Given the description of an element on the screen output the (x, y) to click on. 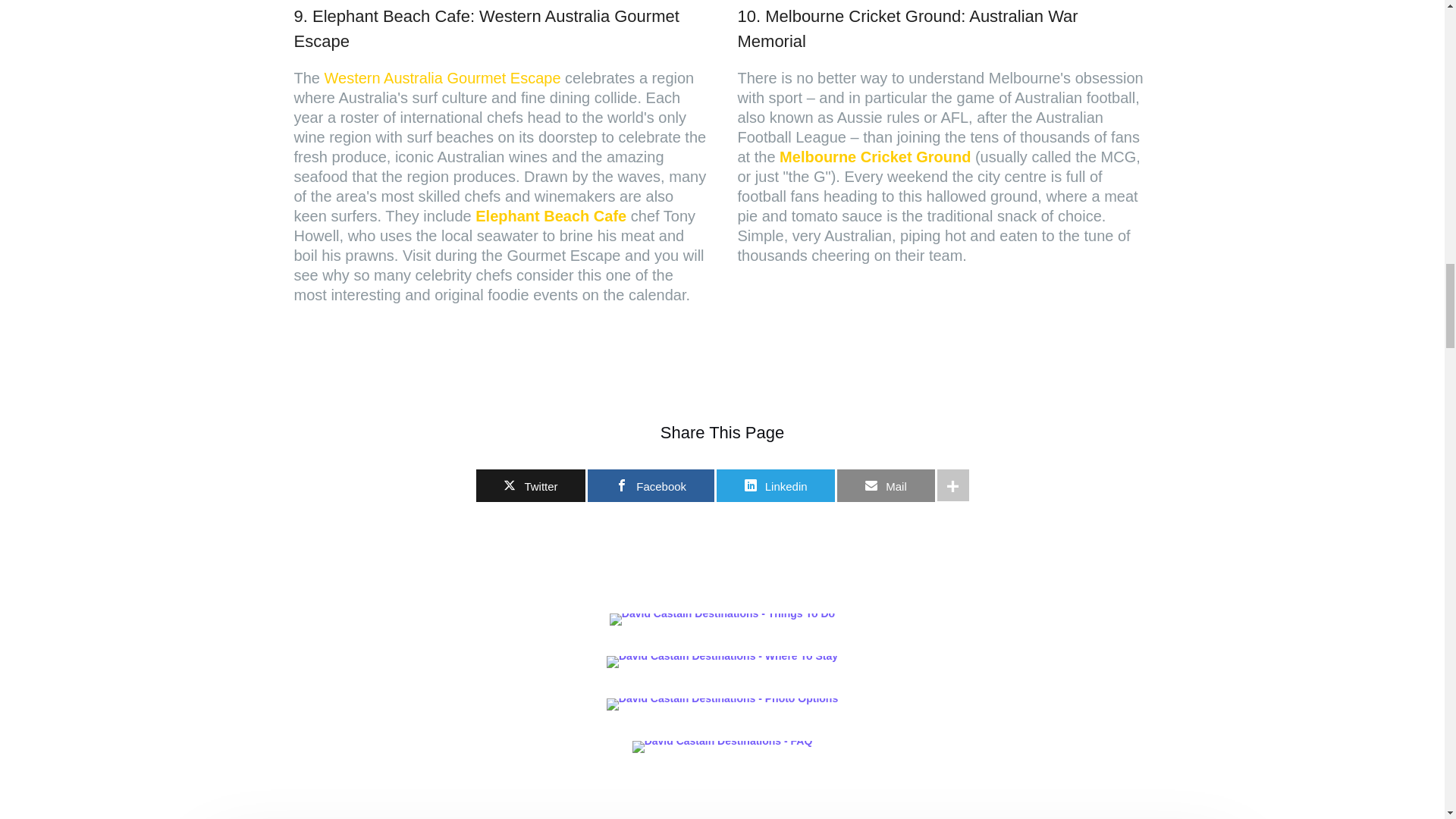
Western Australia Gourmet Escape (442, 77)
